Given the description of an element on the screen output the (x, y) to click on. 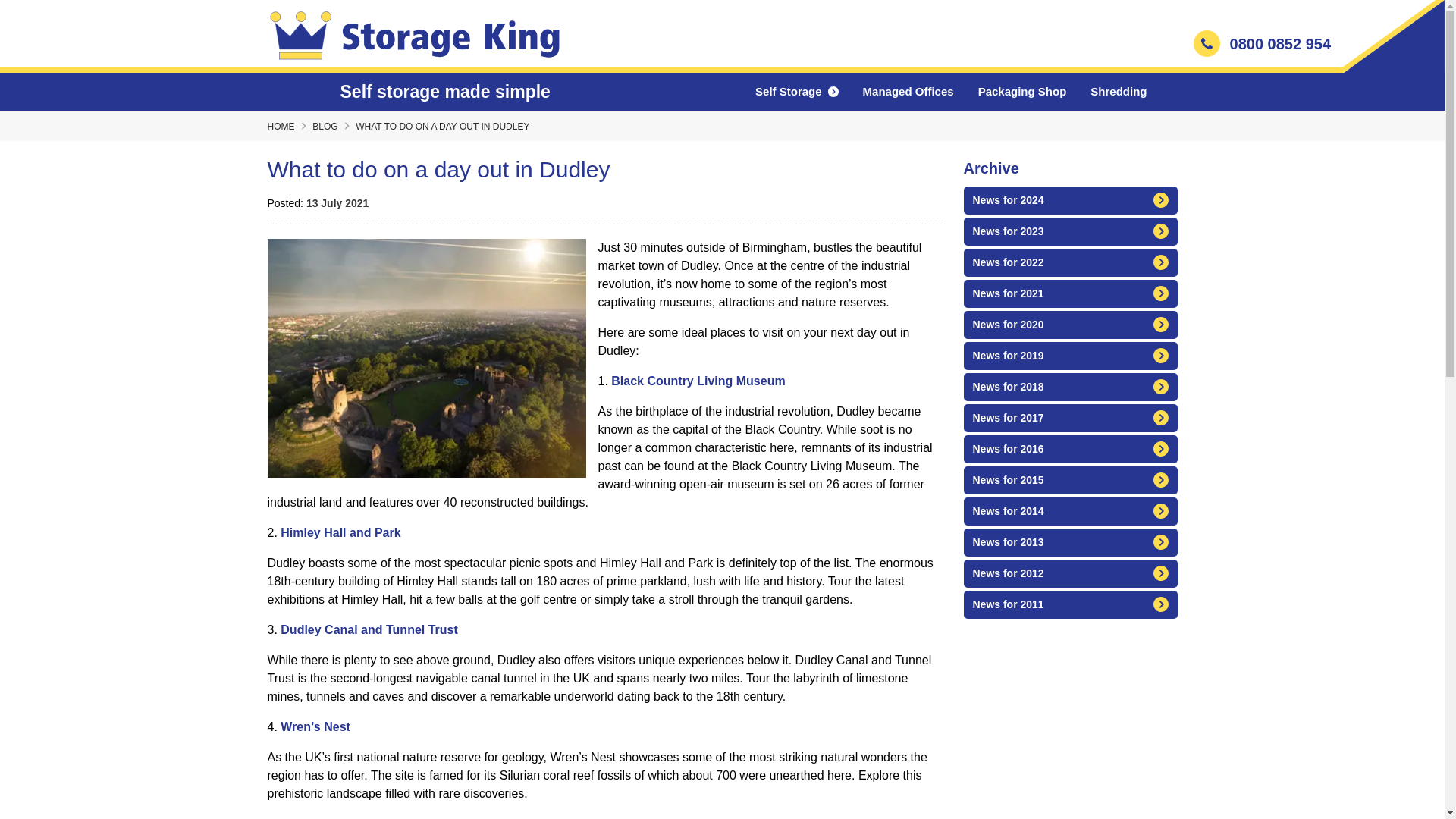
News for 2020 (1069, 325)
News for 2018 (1069, 387)
News for 2016 (1069, 448)
BLOG (325, 126)
News for 2021 (1069, 293)
News for 2017 (1069, 418)
HOME (280, 126)
News for 2022 (1069, 262)
Self Storage (796, 91)
Packaging Shop (1022, 91)
0800 0852 954 (1261, 49)
News for 2014 (1069, 511)
News for 2023 (1069, 231)
News for 2012 (1069, 573)
News for 2011 (1069, 604)
